Given the description of an element on the screen output the (x, y) to click on. 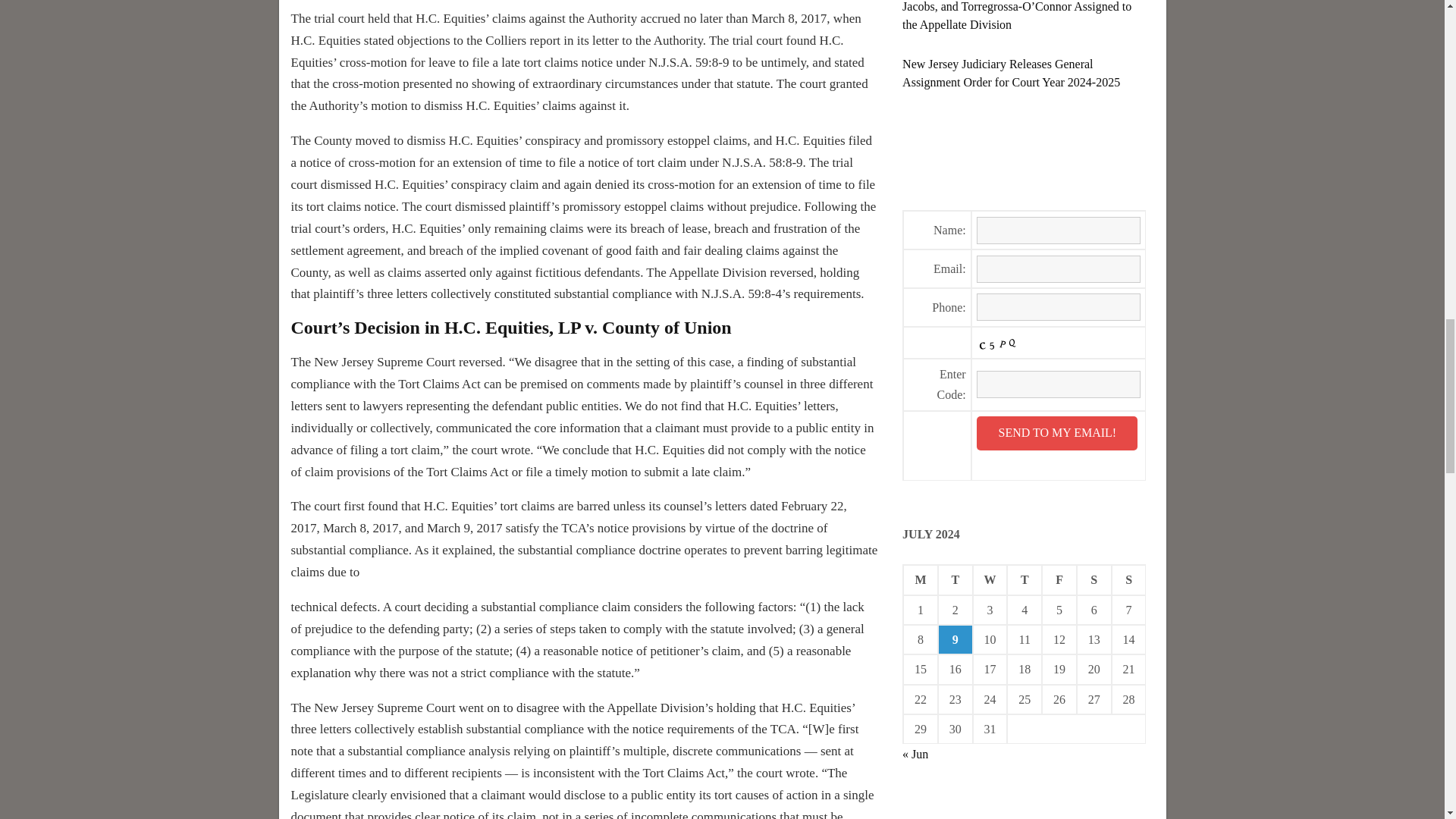
Saturday (1094, 579)
Monday (919, 579)
Wednesday (989, 579)
Thursday (1024, 579)
Tuesday (954, 579)
Friday (1059, 579)
Send to My Email! (1056, 433)
